Given the description of an element on the screen output the (x, y) to click on. 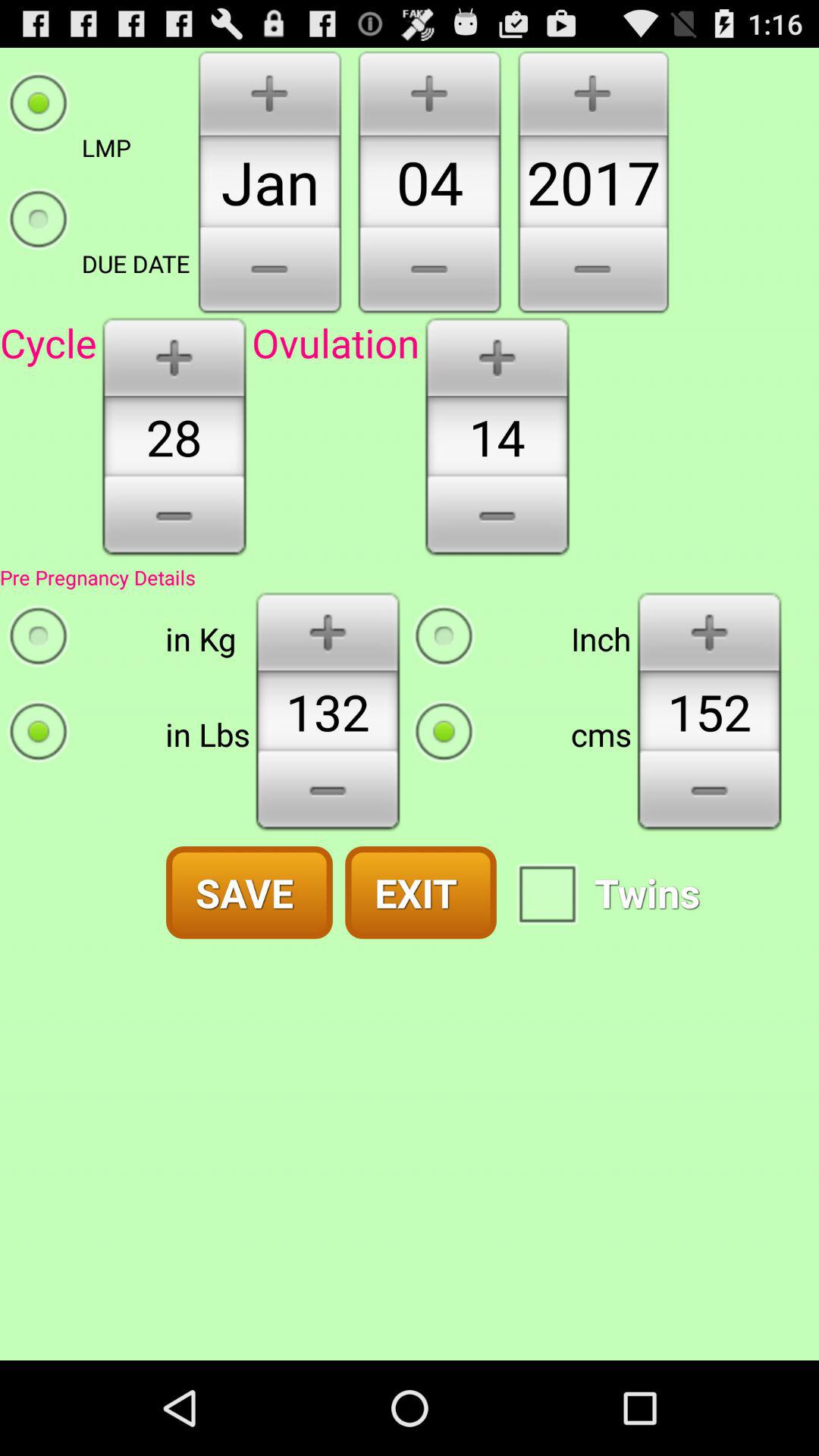
go to the symbol below 2017 (592, 271)
click on  which is beside due date (269, 271)
select the plus icon above numeric 132 (327, 630)
select 28 which is at left side of the page (174, 437)
click on plus icon just above the numeric 2017 (592, 91)
select add button which is above the number 28 (174, 355)
select the text 152 which is right to the text cms (709, 710)
